Given the description of an element on the screen output the (x, y) to click on. 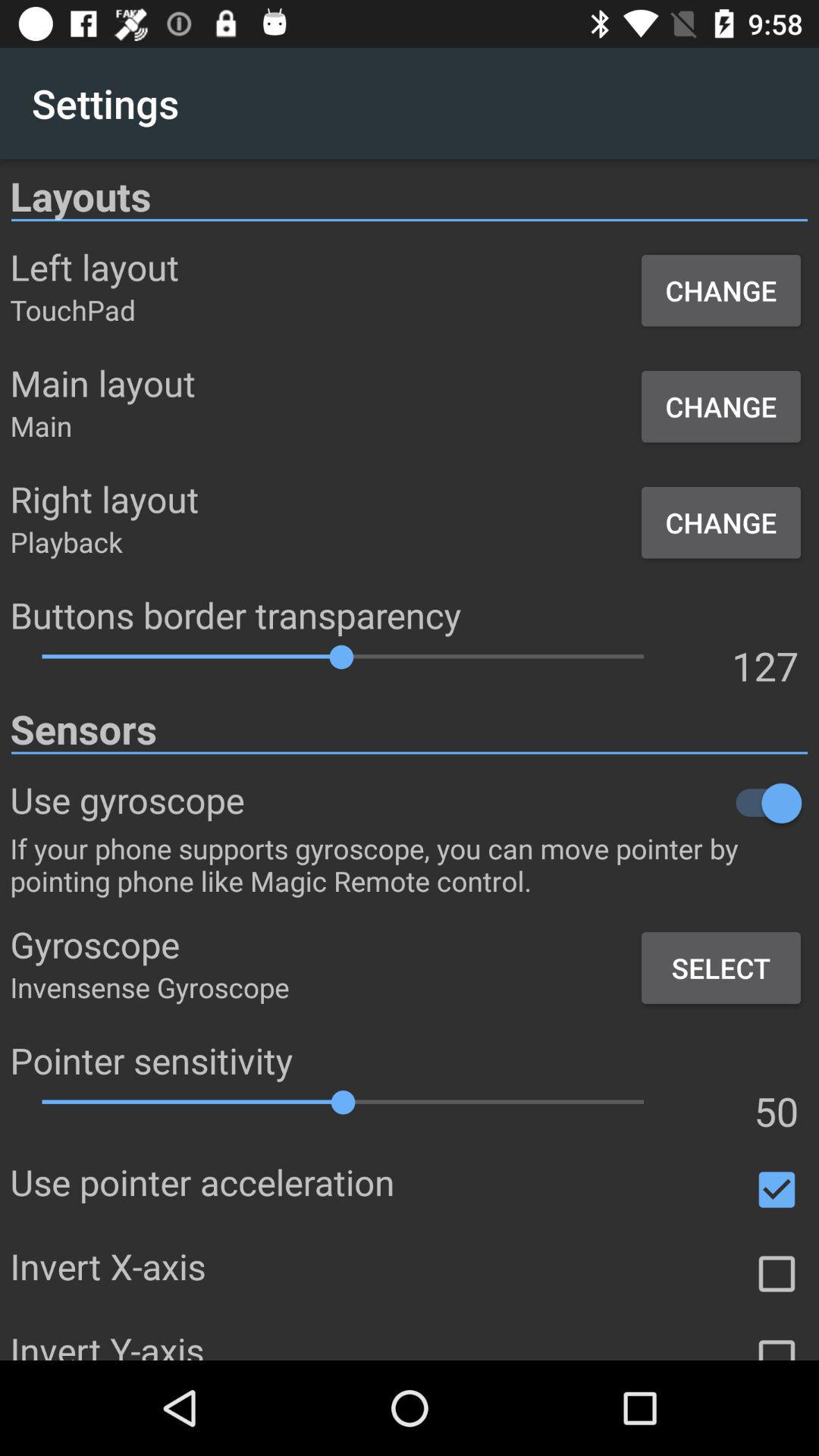
slide off (526, 802)
